Given the description of an element on the screen output the (x, y) to click on. 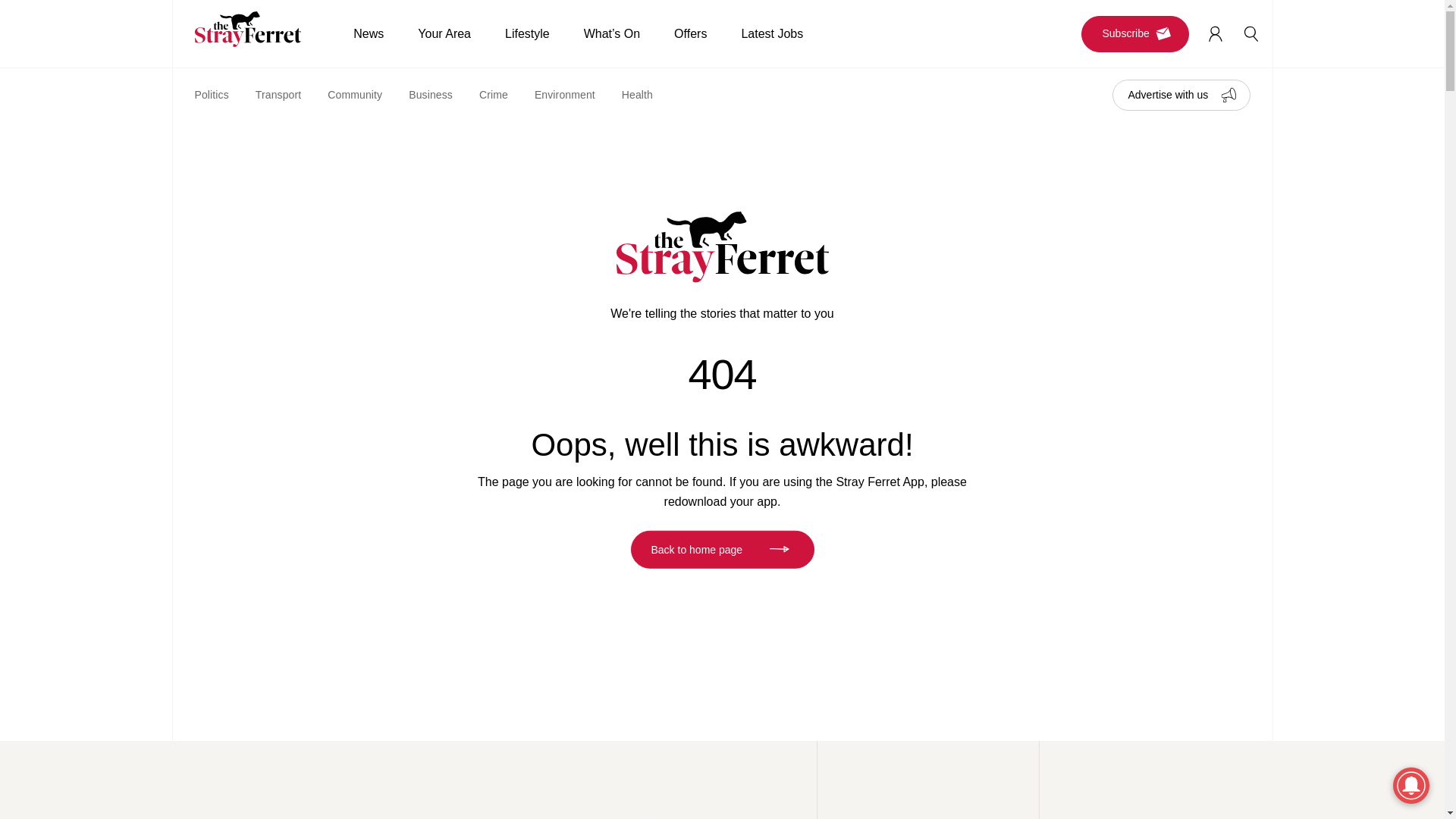
Your Area (461, 33)
Offers (707, 33)
Environment (577, 94)
Business (444, 94)
The Stray Ferret (253, 28)
Latest Jobs (789, 33)
Subscribe (1135, 33)
Crime (506, 94)
Politics (223, 94)
Advertise with us (1180, 93)
Lifestyle (544, 33)
Community (368, 94)
Transport (291, 94)
Back to home page (721, 549)
Health (650, 94)
